Given the description of an element on the screen output the (x, y) to click on. 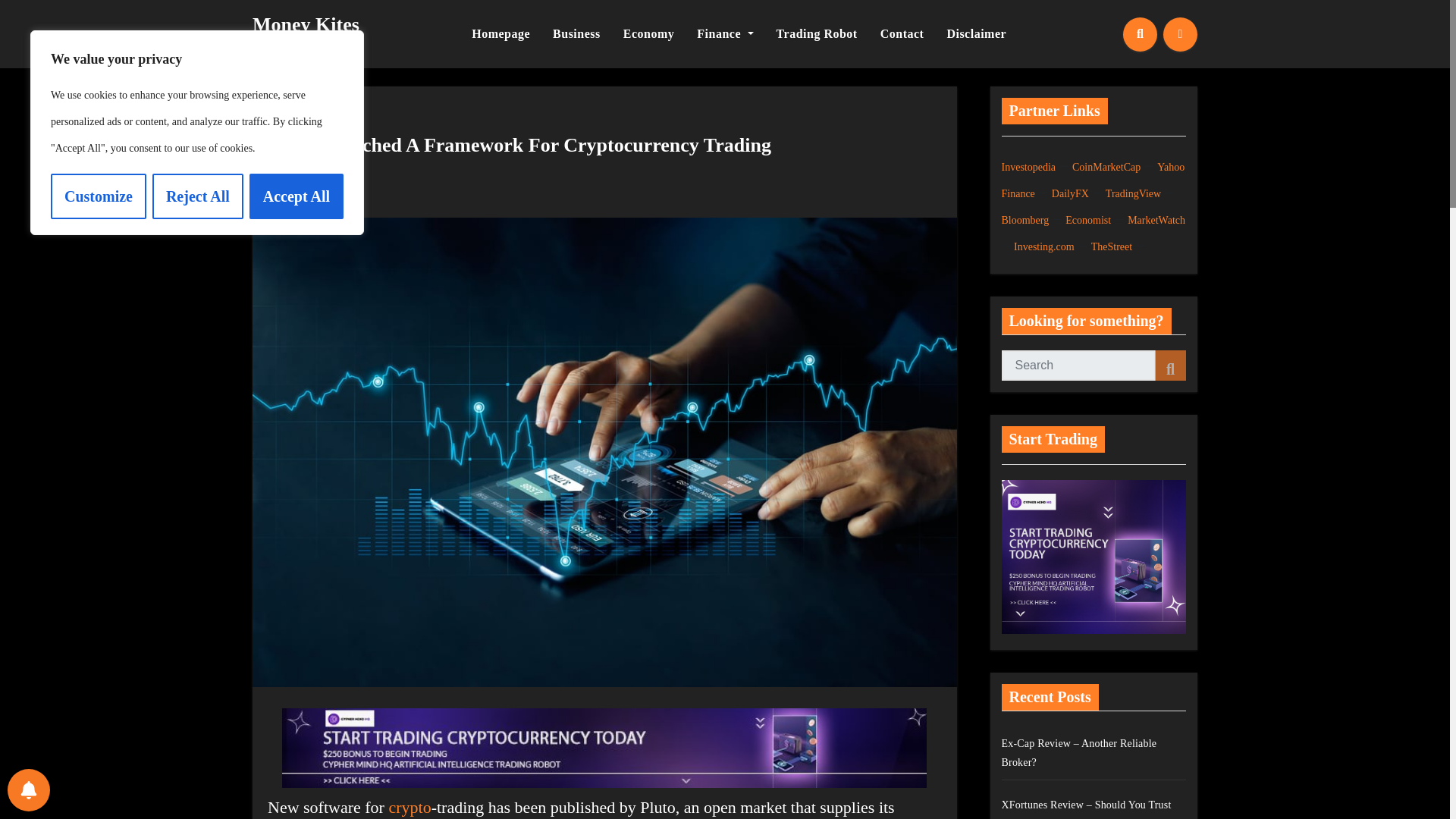
Reject All (197, 196)
Customize (98, 196)
Money Kites (305, 24)
Economy (648, 33)
Business (576, 33)
Finance (724, 33)
Homepage (500, 33)
Homepage (500, 33)
Finance (724, 33)
Business (576, 33)
Trading Robot (817, 33)
Accept All (295, 196)
Economy (648, 33)
